Given the description of an element on the screen output the (x, y) to click on. 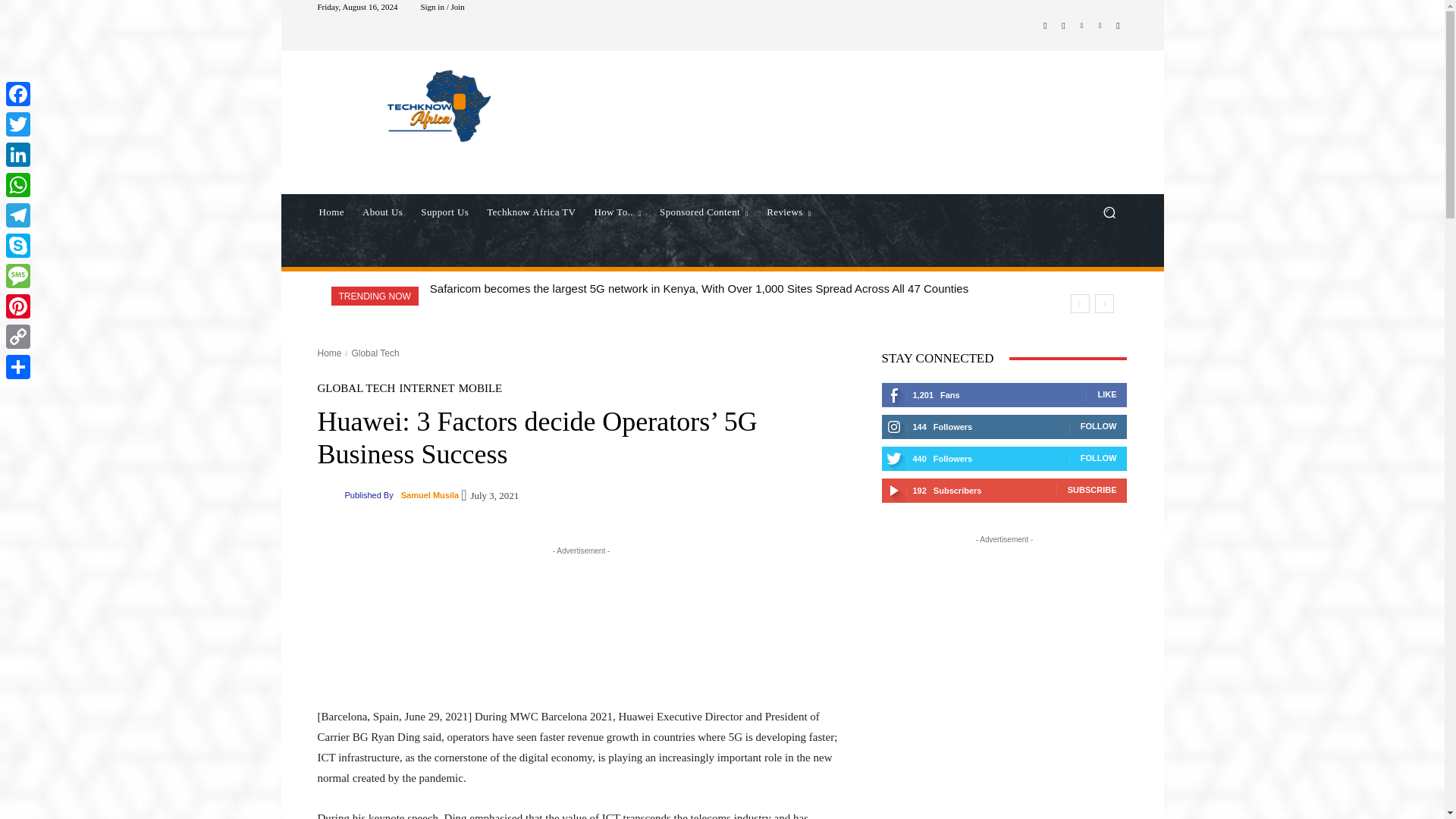
Facebook (1044, 25)
Instagram (1062, 25)
Vimeo (1099, 25)
Twitter (1080, 25)
Youtube (1117, 25)
